Given the description of an element on the screen output the (x, y) to click on. 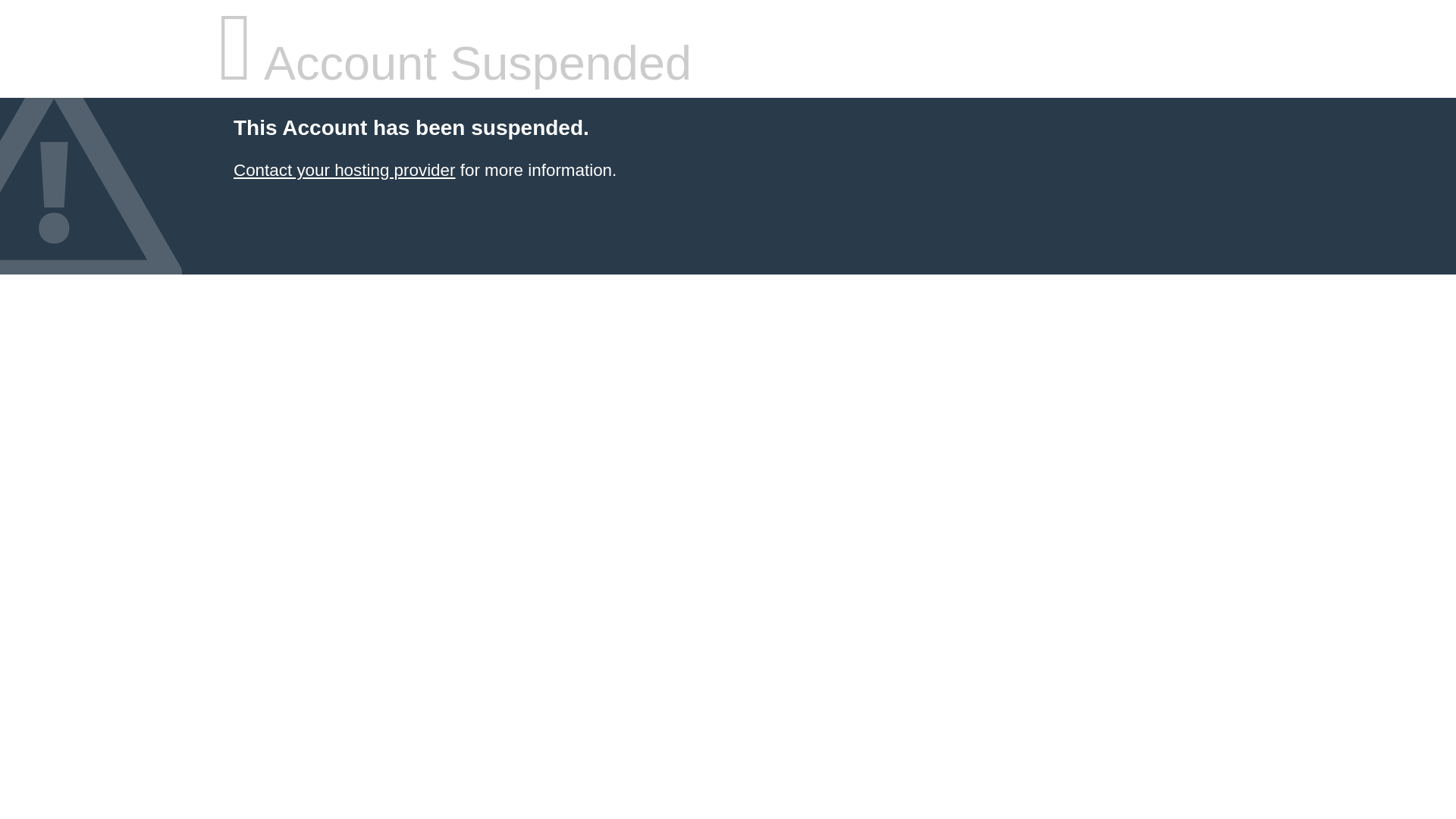
Contact your hosting provider (343, 169)
